Given the description of an element on the screen output the (x, y) to click on. 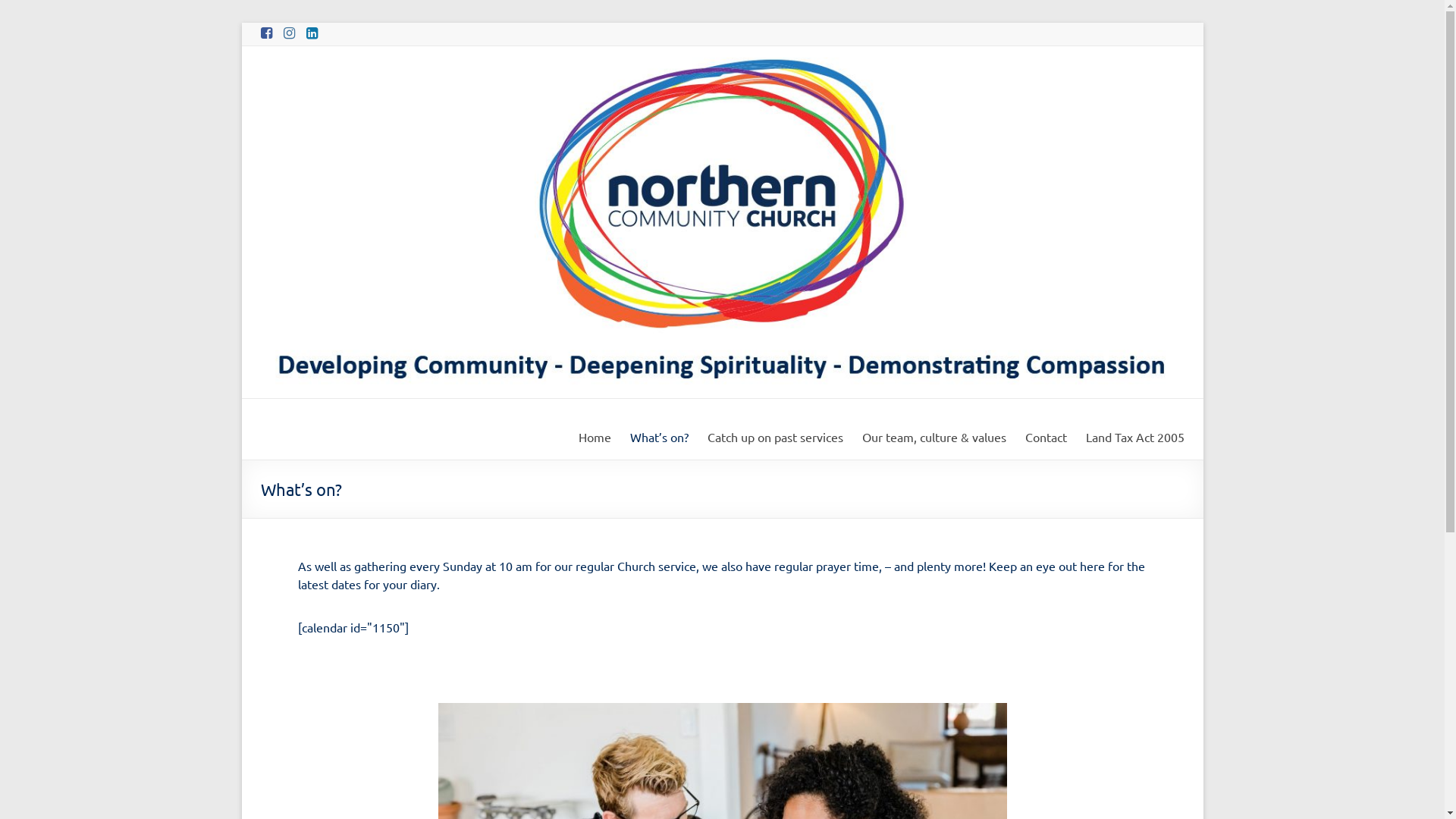
Home Element type: text (593, 436)
Contact Element type: text (1045, 436)
Land Tax Act 2005 Element type: text (1134, 436)
Catch up on past services Element type: text (774, 436)
Our team, culture & values Element type: text (933, 436)
